Given the description of an element on the screen output the (x, y) to click on. 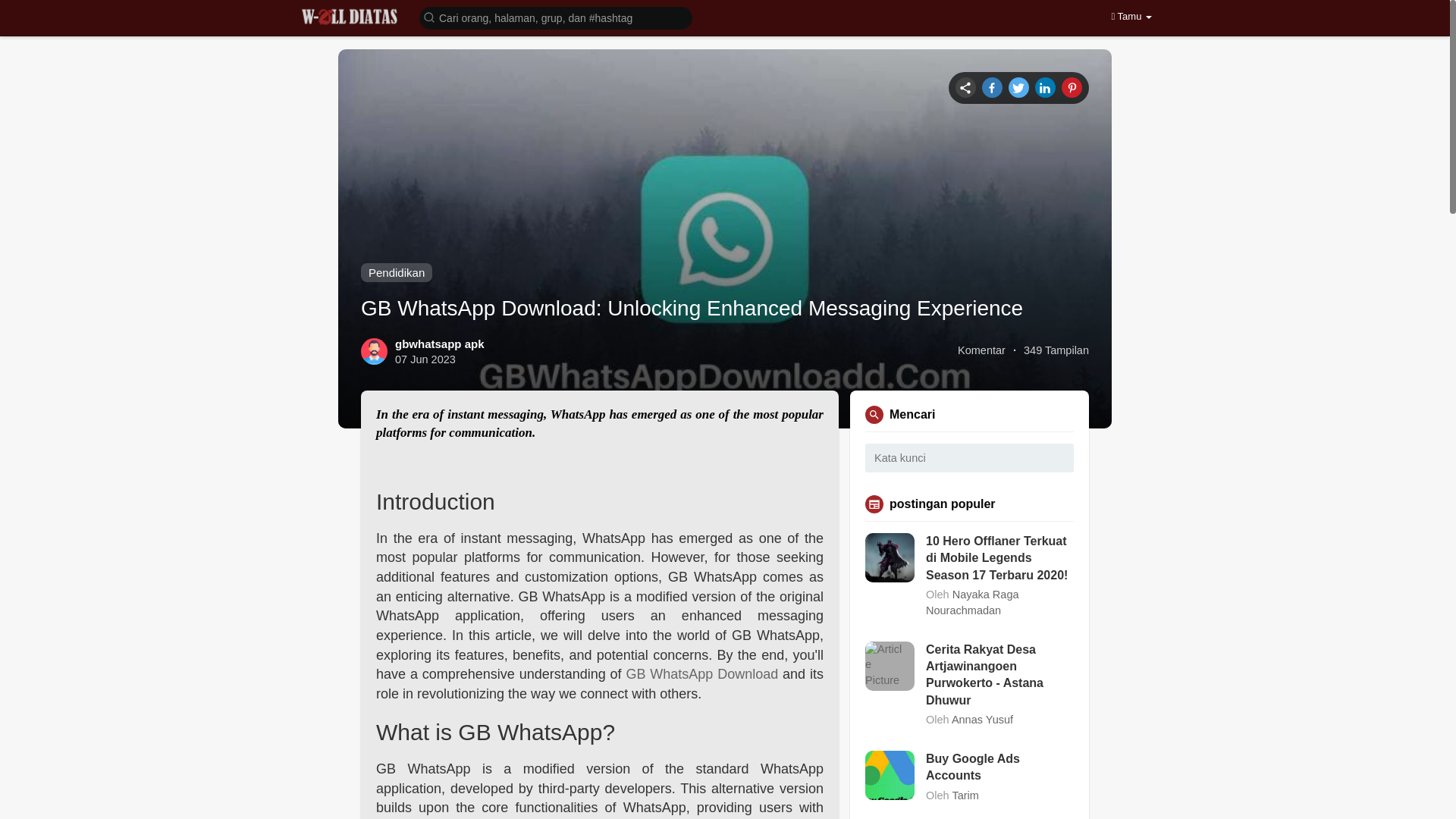
Linkedin (1045, 86)
Linimasa (964, 86)
gbwhatsapp apk (439, 343)
Twitter (1018, 86)
Pendidikan (396, 271)
Pinterest (1071, 86)
Annas Yusuf (982, 719)
Buy Google Ads Accounts (1000, 767)
GB WhatsApp Download (701, 673)
Komentar (982, 350)
